Given the description of an element on the screen output the (x, y) to click on. 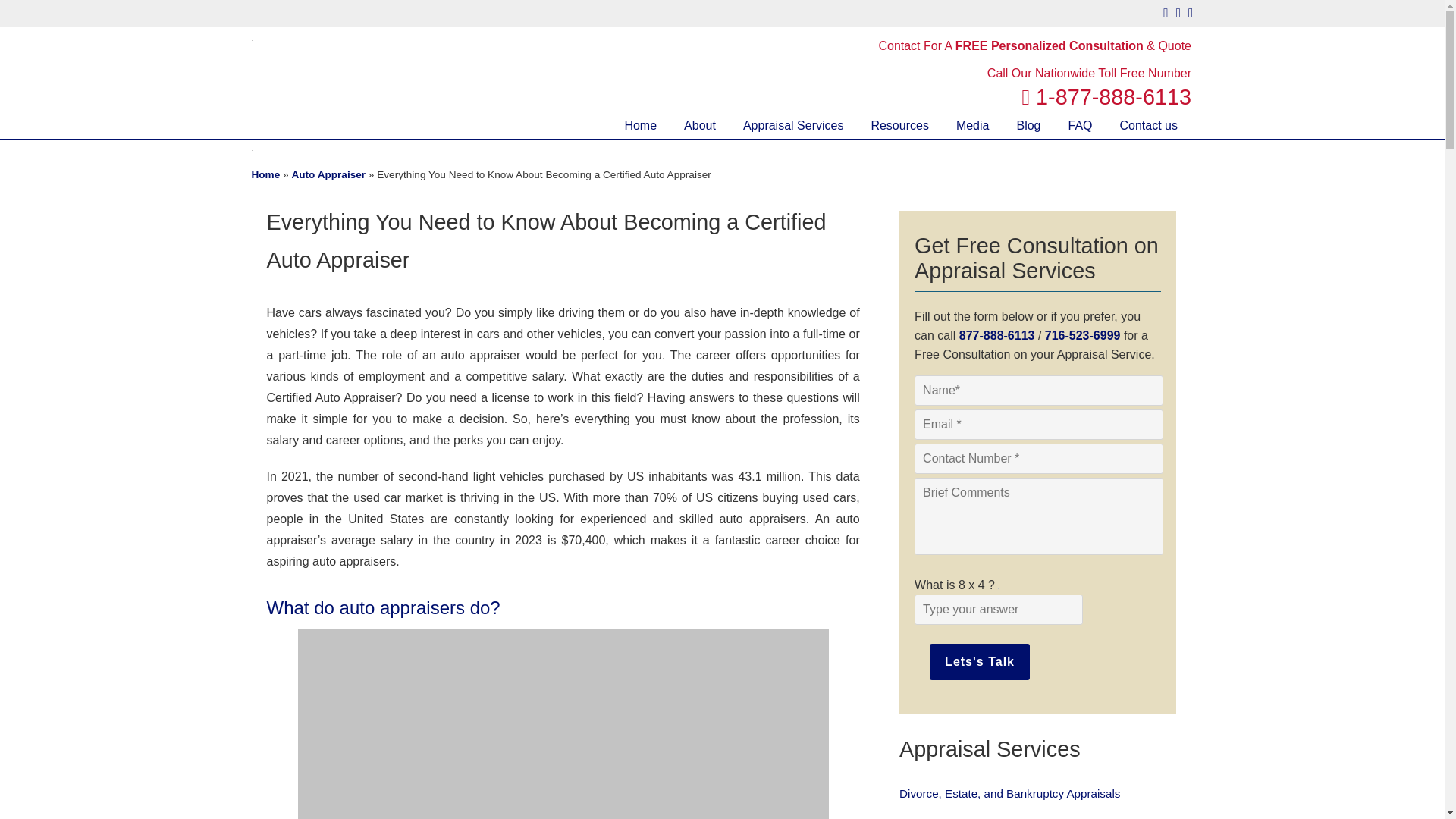
Lets's Talk (979, 661)
Home (639, 125)
About (699, 125)
Resources (899, 125)
Appraisal Services (793, 125)
Media (972, 125)
1-877-888-6113 (1106, 96)
Contact us (1148, 125)
FAQ (1079, 125)
Blog (1028, 125)
